Given the description of an element on the screen output the (x, y) to click on. 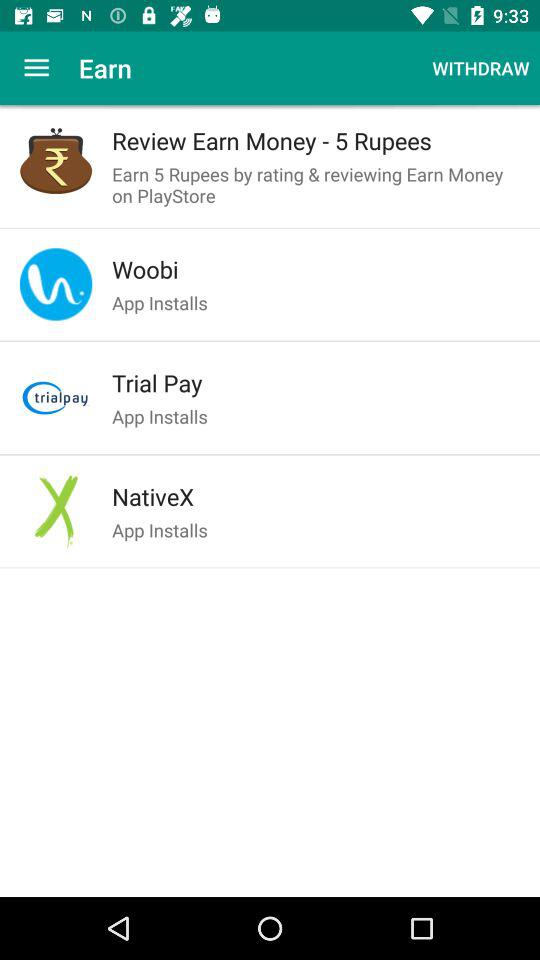
turn off the trial pay icon (316, 383)
